Given the description of an element on the screen output the (x, y) to click on. 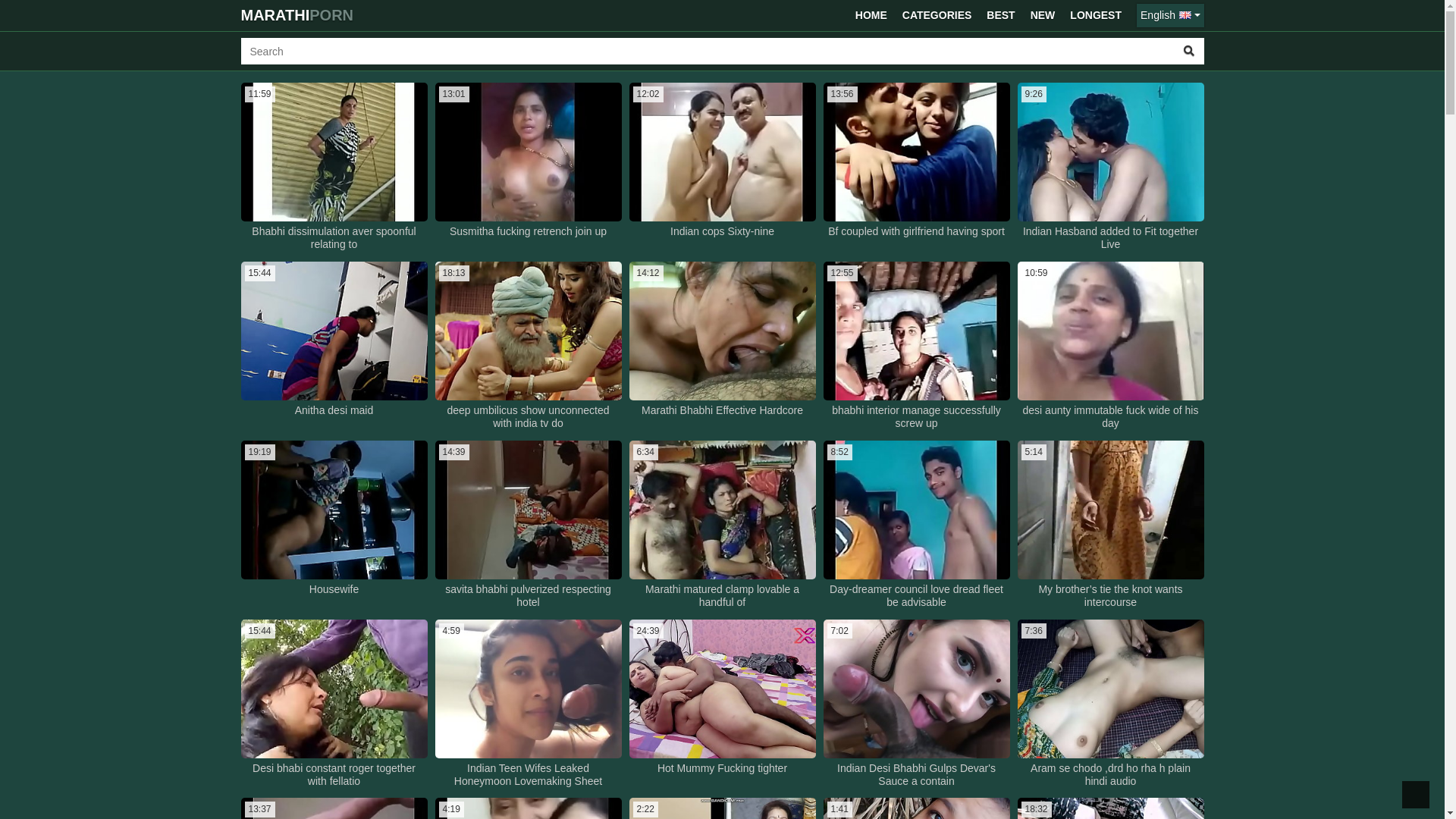
CATEGORIES Element type: text (937, 15)
Bhabhi dissimulation aver spoonful relating to Element type: text (333, 238)
Housewife Element type: text (333, 589)
Day-dreamer council love dread fleet be advisable Element type: text (915, 595)
deep umbilicus show unconnected with india tv do Element type: text (527, 416)
For searching please use latin letters Element type: hover (707, 50)
Marathi matured clamp lovable a handful of Element type: text (721, 595)
BEST Element type: text (1000, 15)
bhabhi interior manage successfully screw up Element type: text (915, 416)
Indian cops Sixty-nine Element type: text (722, 231)
Indian Desi Bhabhi Gulps Devar's Sauce a contain Element type: text (915, 774)
MARATHIPORN Element type: text (297, 15)
HOME Element type: text (871, 15)
Susmitha fucking retrench join up Element type: text (527, 231)
English Element type: text (1169, 15)
Marathi Bhabhi Effective Hardcore Element type: text (722, 410)
Aram se chodo ,drd ho rha h plain hindi audio Element type: text (1109, 774)
Indian Hasband added to Fit together Live Element type: text (1109, 238)
LONGEST Element type: text (1095, 15)
Indian Teen Wifes Leaked Honeymoon Lovemaking Sheet Element type: text (527, 774)
desi aunty immutable fuck wide of his day Element type: text (1109, 416)
savita bhabhi pulverized respecting hotel Element type: text (527, 595)
Hot Mummy Fucking tighter Element type: text (722, 768)
Anitha desi maid Element type: text (333, 410)
Search Element type: text (1188, 50)
NEW Element type: text (1042, 15)
Desi bhabi constant roger together with fellatio Element type: text (333, 774)
Bf coupled with girlfriend having sport Element type: text (916, 231)
